Given the description of an element on the screen output the (x, y) to click on. 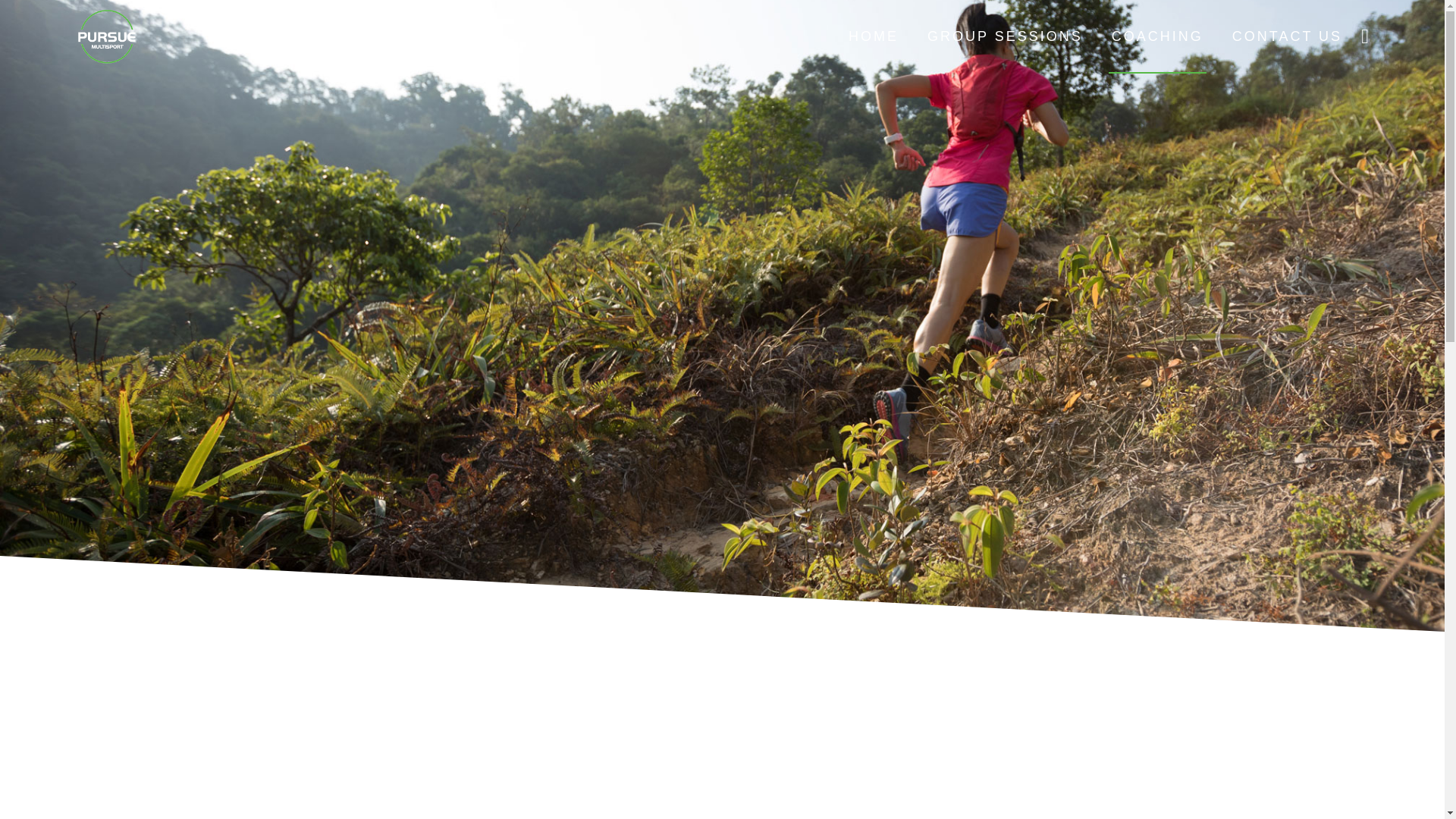
HOME (873, 35)
CONTACT US (1286, 35)
GROUP SESSIONS (1005, 35)
COACHING (1158, 35)
